Given the description of an element on the screen output the (x, y) to click on. 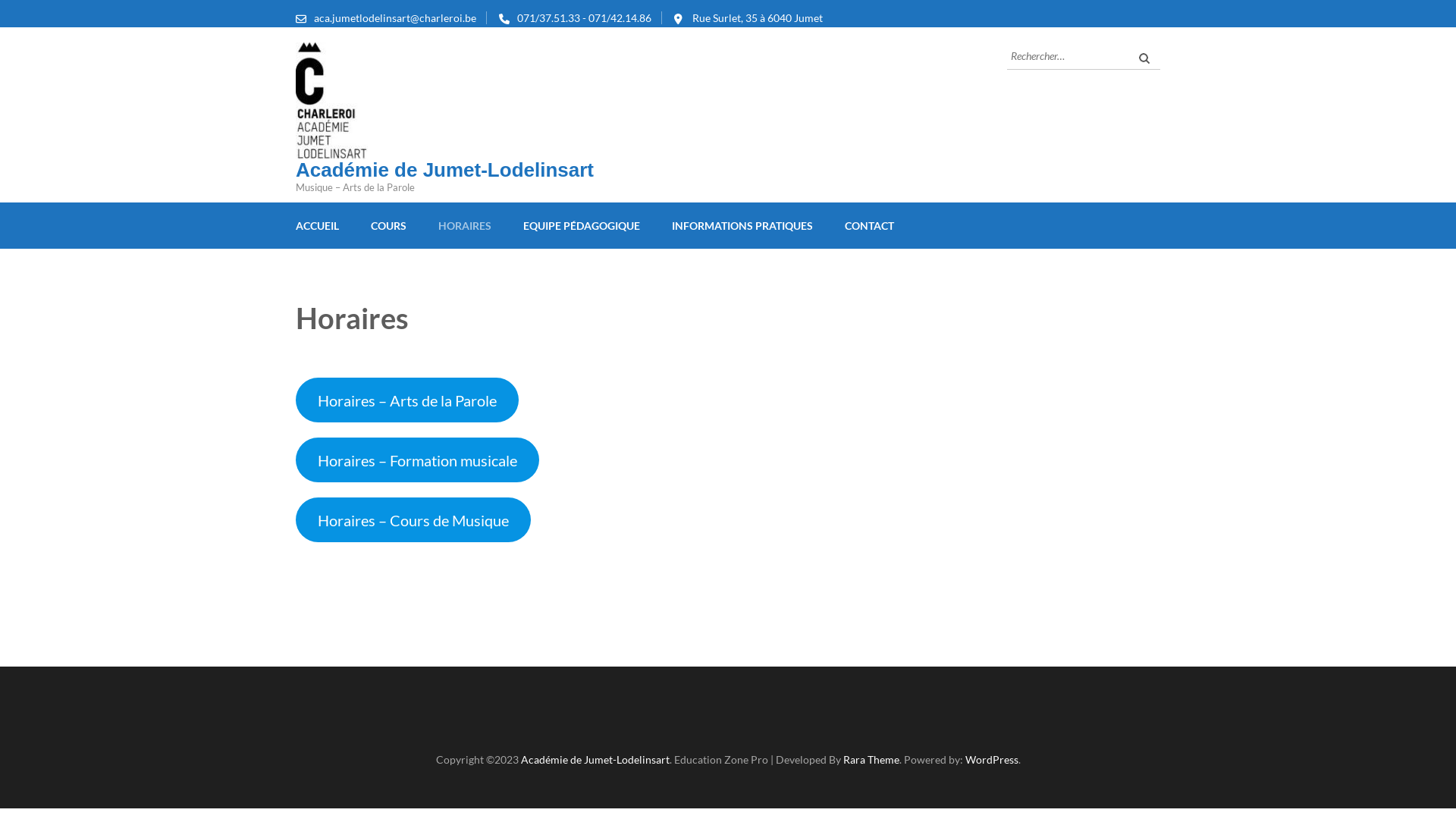
COURS Element type: text (388, 225)
071/37.51.33 - 071/42.14.86 Element type: text (584, 17)
WordPress Element type: text (990, 759)
aca.jumetlodelinsart@charleroi.be Element type: text (394, 17)
Rechercher Element type: text (1144, 56)
CONTACT Element type: text (869, 225)
ACCUEIL Element type: text (316, 225)
Rara Theme Element type: text (871, 759)
INFORMATIONS PRATIQUES Element type: text (741, 225)
HORAIRES Element type: text (464, 225)
